Given the description of an element on the screen output the (x, y) to click on. 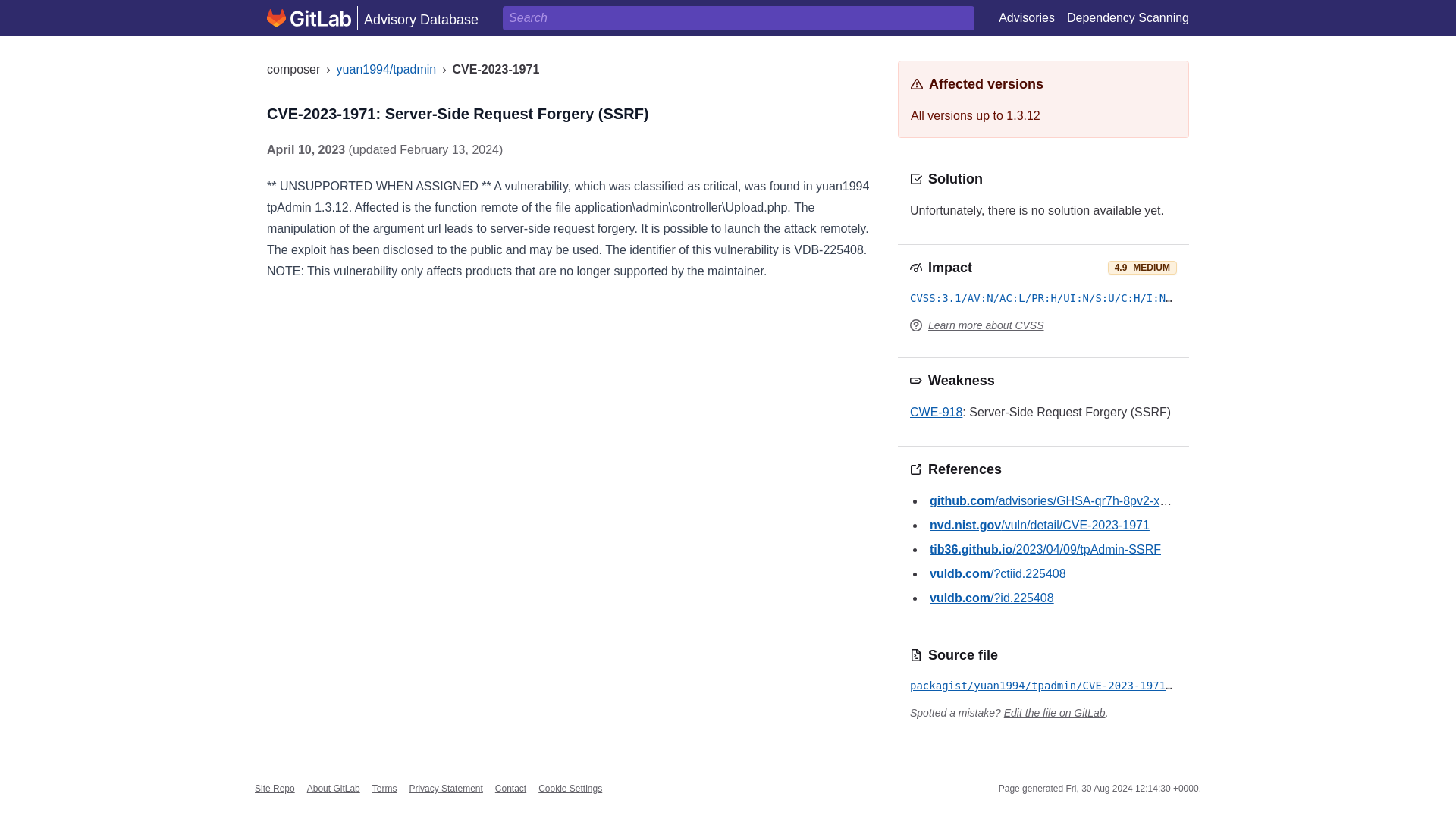
Learn more about CVSS (985, 324)
Terms (384, 787)
About GitLab (333, 787)
Dependency Scanning (1128, 17)
Privacy Statement (445, 787)
Cookie Settings (570, 788)
Contact (510, 787)
Advisory Database (372, 17)
Site Repo (274, 787)
Advisories (1026, 17)
